Given the description of an element on the screen output the (x, y) to click on. 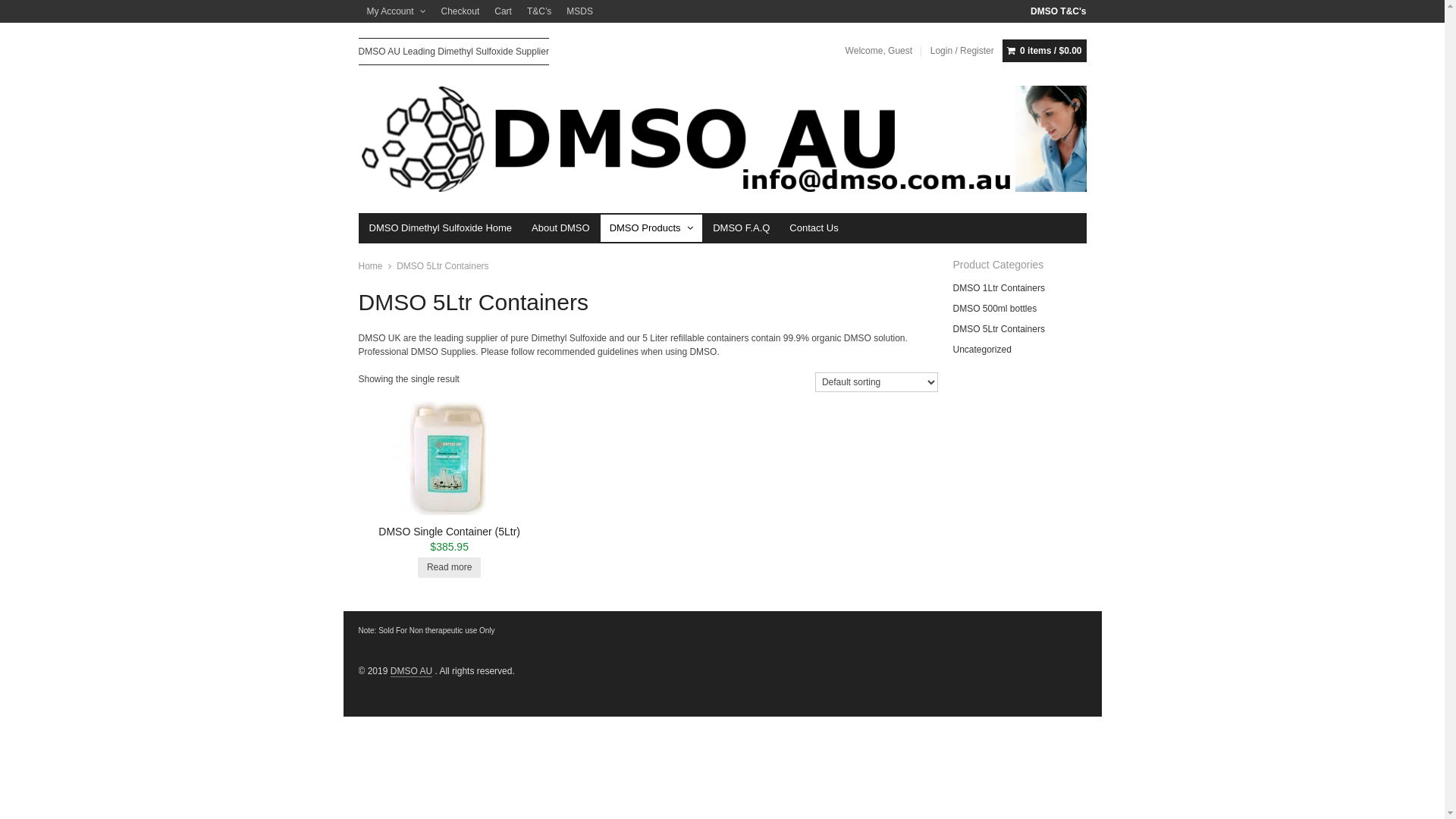
DMSO Dimethyl Sulfoxide Home Element type: text (439, 227)
0 items / $0.00 Element type: text (1043, 50)
DMSO AU Element type: text (411, 671)
DMSO 500ml bottles Element type: text (994, 308)
DMSO F.A.Q Element type: text (740, 227)
DMSO 1Ltr Containers Element type: text (998, 287)
About DMSO Element type: text (560, 227)
Uncategorized Element type: text (981, 349)
Checkout Element type: text (460, 11)
My Account Element type: text (396, 11)
DMSO Single Container (5Ltr)
$385.95 Element type: text (448, 487)
Home Element type: text (369, 265)
Cart Element type: text (502, 11)
Login / Register Element type: text (962, 50)
DMSO Products Element type: text (651, 227)
DMSO 5Ltr Containers Element type: text (998, 328)
Contact Us Element type: text (813, 227)
DMSO Dimethyl Sulfoxide Australia Element type: hover (721, 138)
MSDS Element type: text (579, 11)
Read more Element type: text (448, 567)
DMSO T&C's Element type: text (1058, 11)
